Given the description of an element on the screen output the (x, y) to click on. 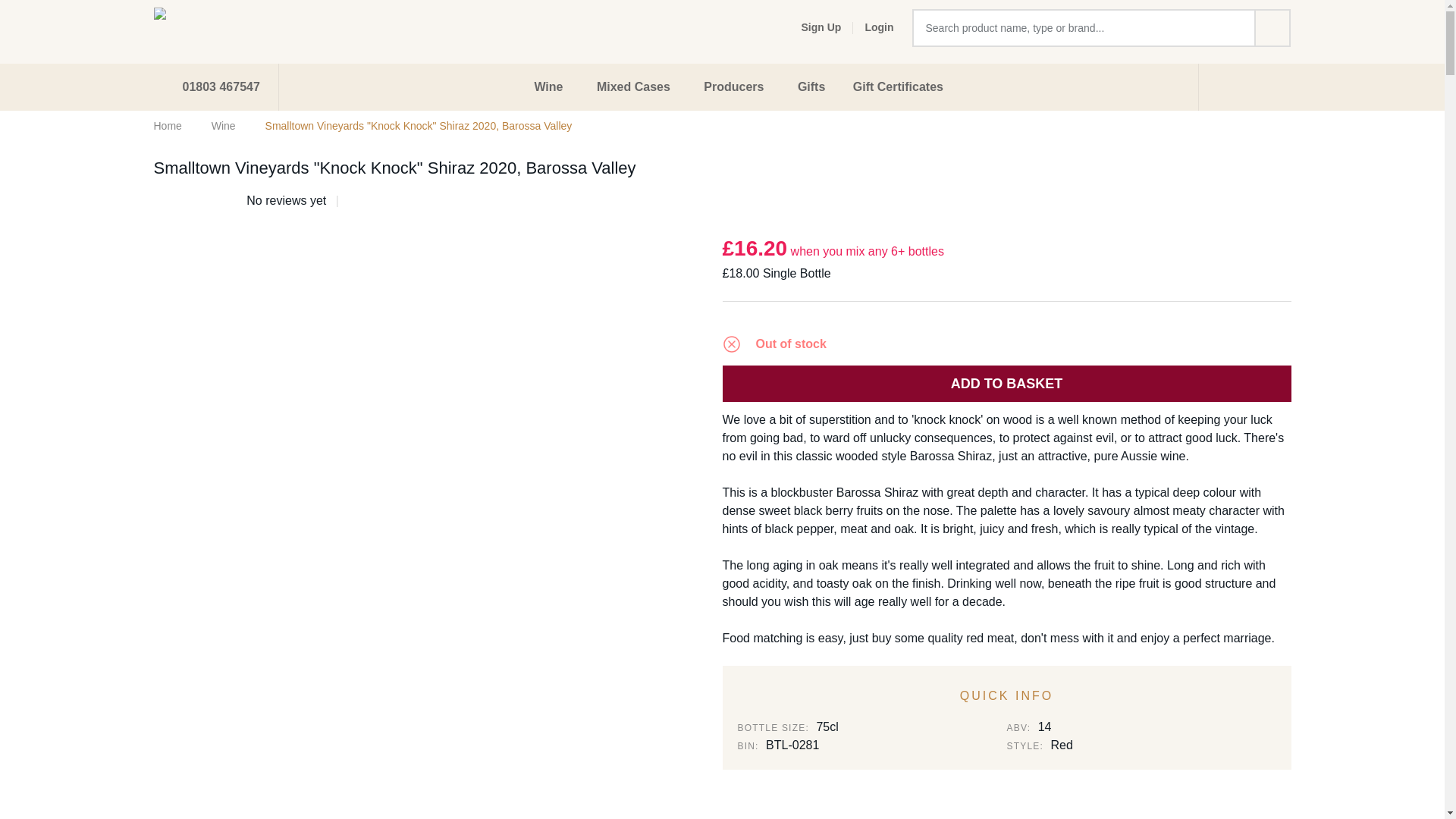
Sign Up (810, 27)
Call Us: 01803 467547 (215, 86)
SEARCH (1271, 27)
01803 467547 (215, 86)
Login (878, 27)
Login (878, 27)
Sign Up (810, 27)
Wine (550, 86)
